Given the description of an element on the screen output the (x, y) to click on. 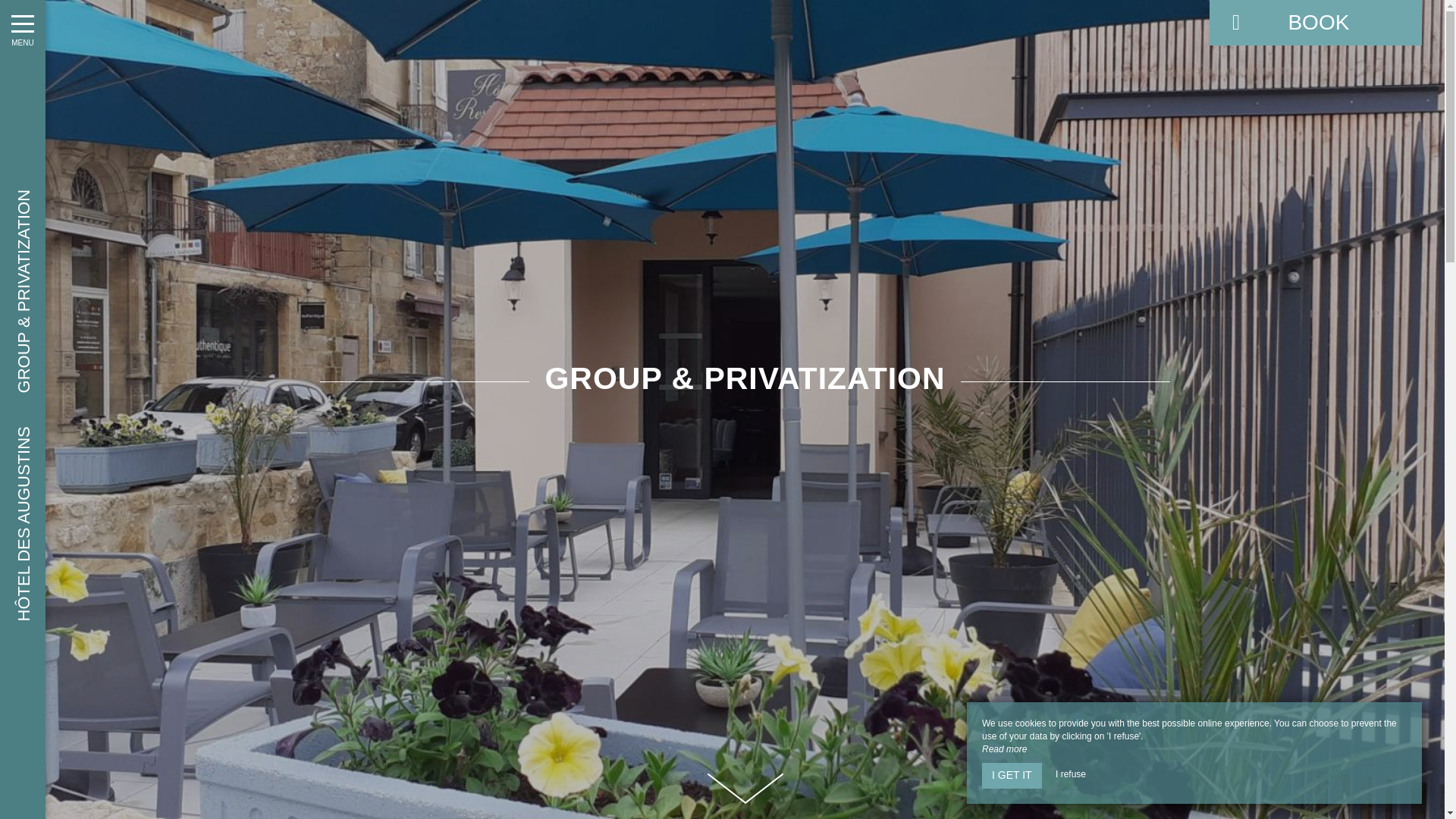
I GET IT (1011, 775)
